Given the description of an element on the screen output the (x, y) to click on. 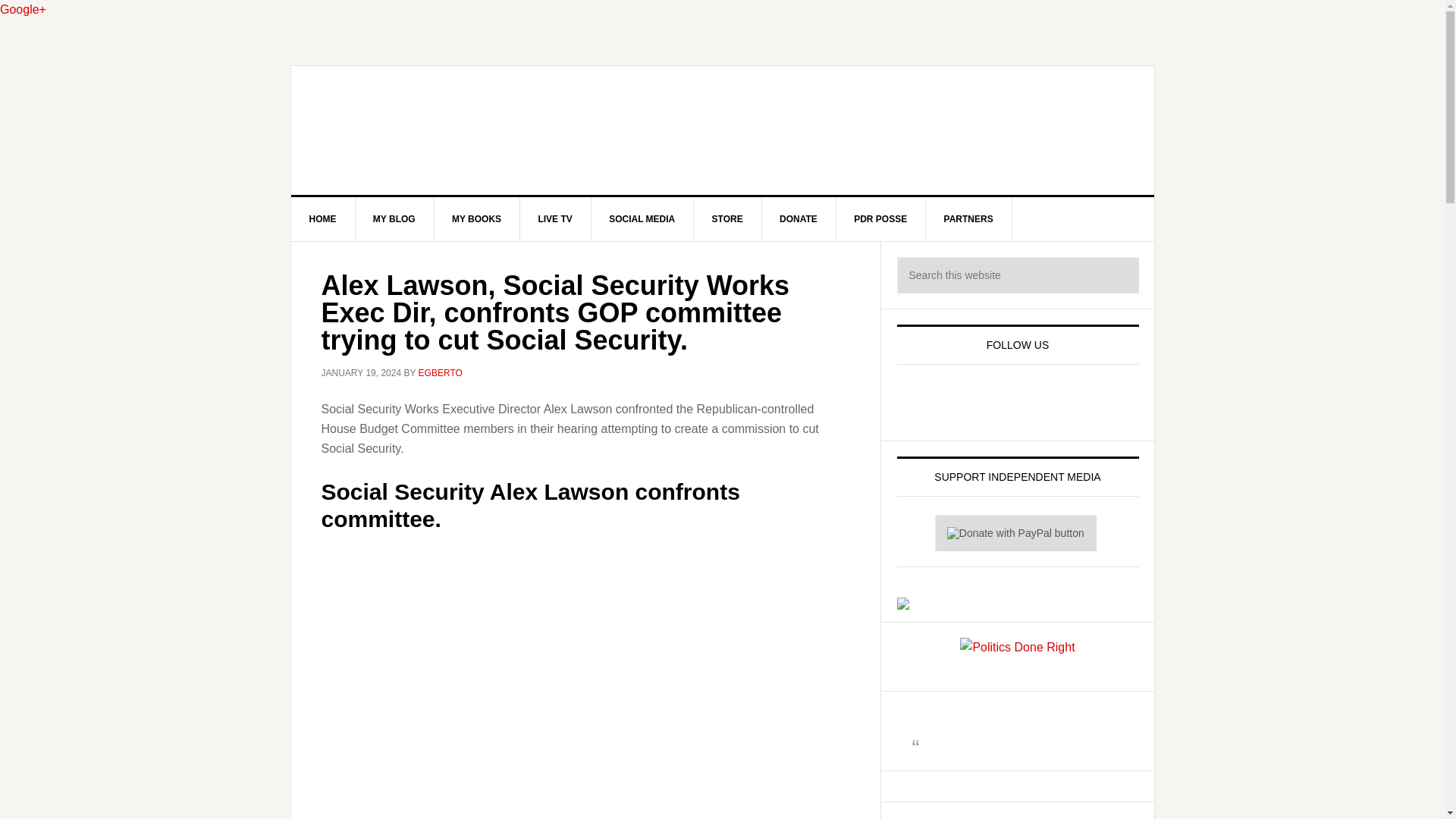
PDR POSSE (880, 218)
SOCIAL MEDIA (642, 218)
PayPal - The safer, easier way to pay online! (1015, 533)
MY BOOKS (476, 218)
POLITICS DONE RIGHT (722, 130)
EGBERTO (441, 372)
STORE (727, 218)
PARTNERS (968, 218)
MY BLOG (394, 218)
